Given the description of an element on the screen output the (x, y) to click on. 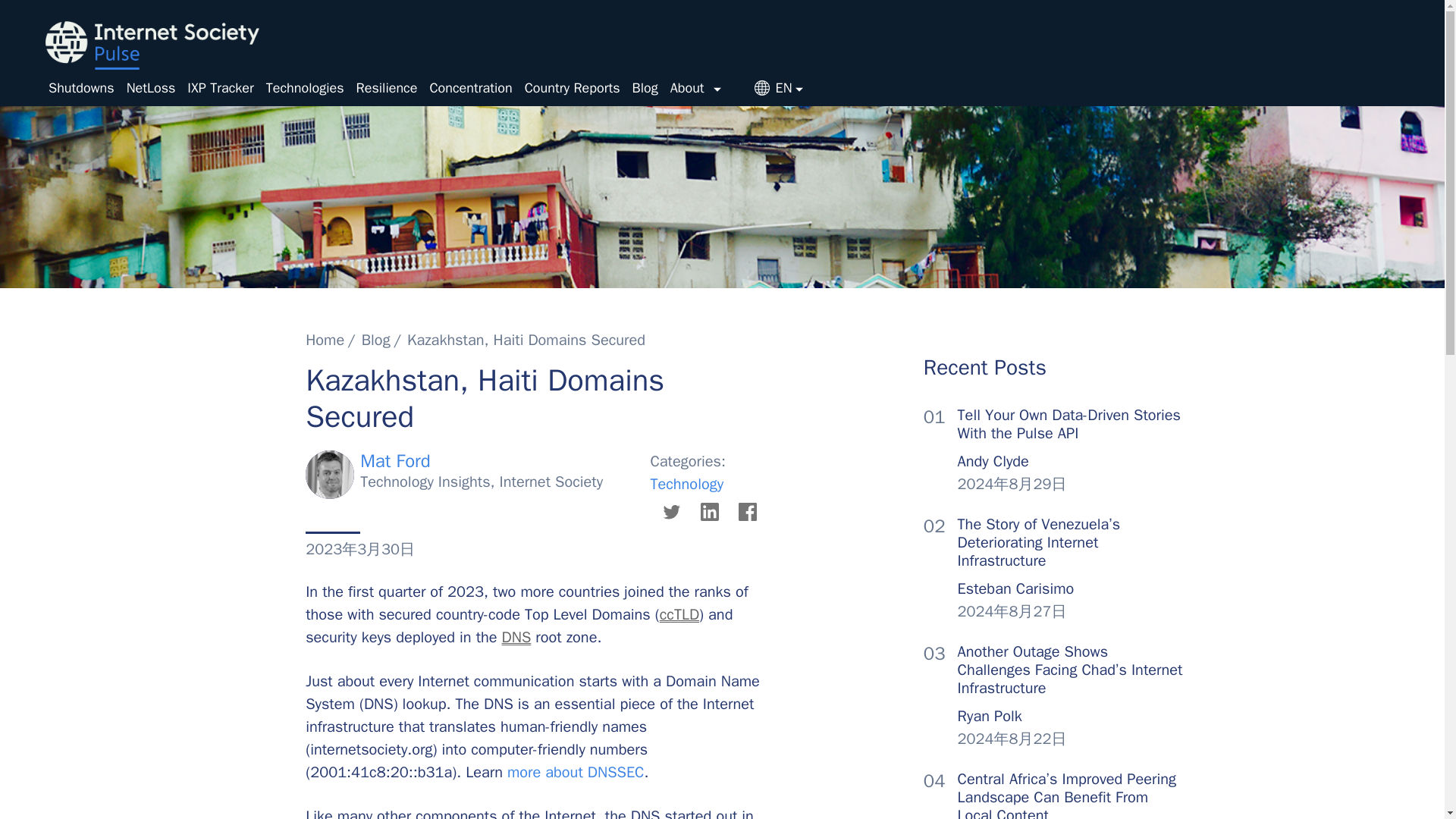
NetLoss (151, 87)
ccTLD (678, 614)
Domain Name System (516, 637)
DNS (516, 637)
Mat Ford (394, 460)
Concentration (470, 87)
country code Top-Level Domain (678, 614)
Technologies (305, 87)
Resilience (386, 87)
Blog (375, 339)
